Given the description of an element on the screen output the (x, y) to click on. 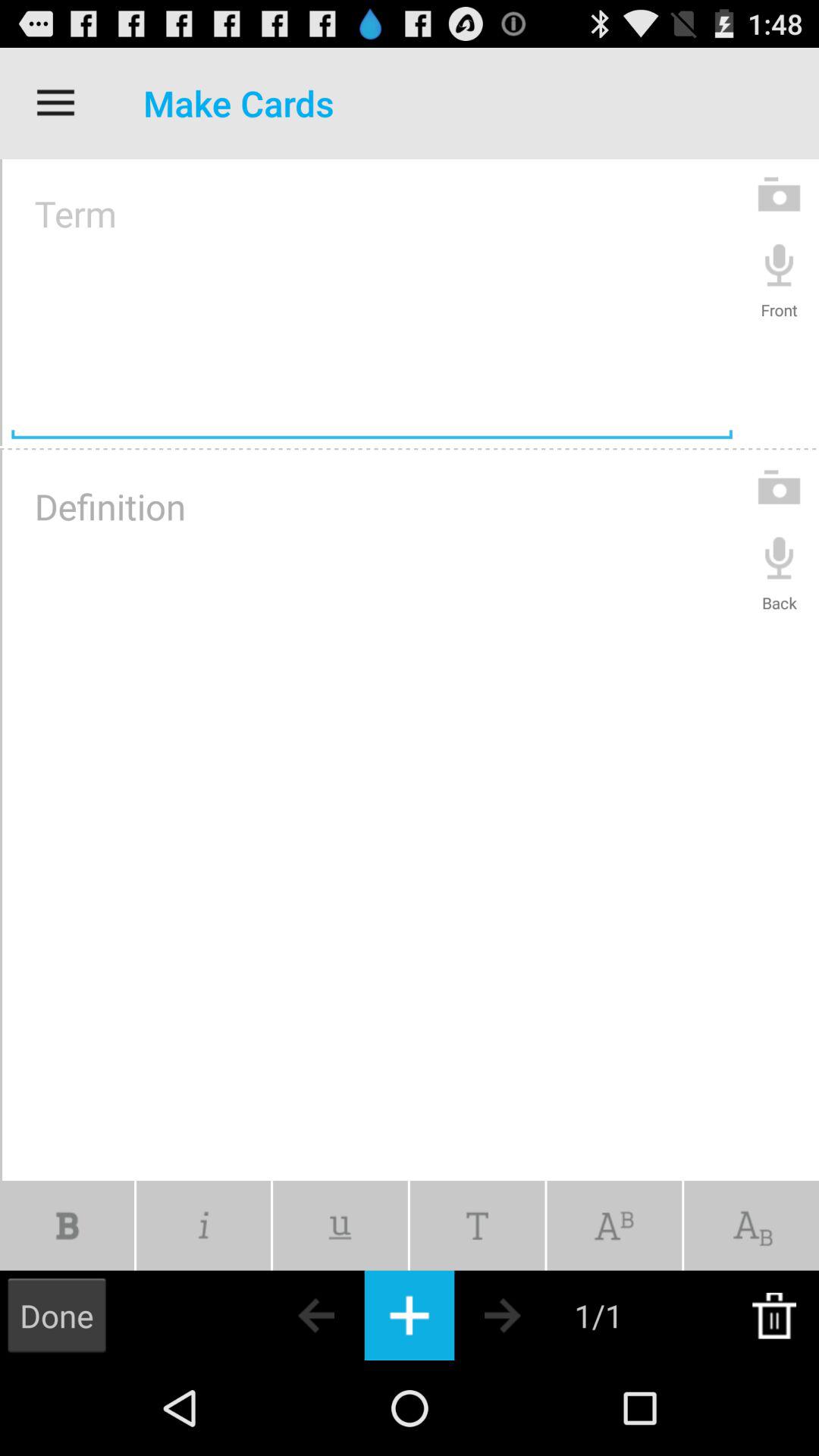
toggle make cards term (371, 302)
